Given the description of an element on the screen output the (x, y) to click on. 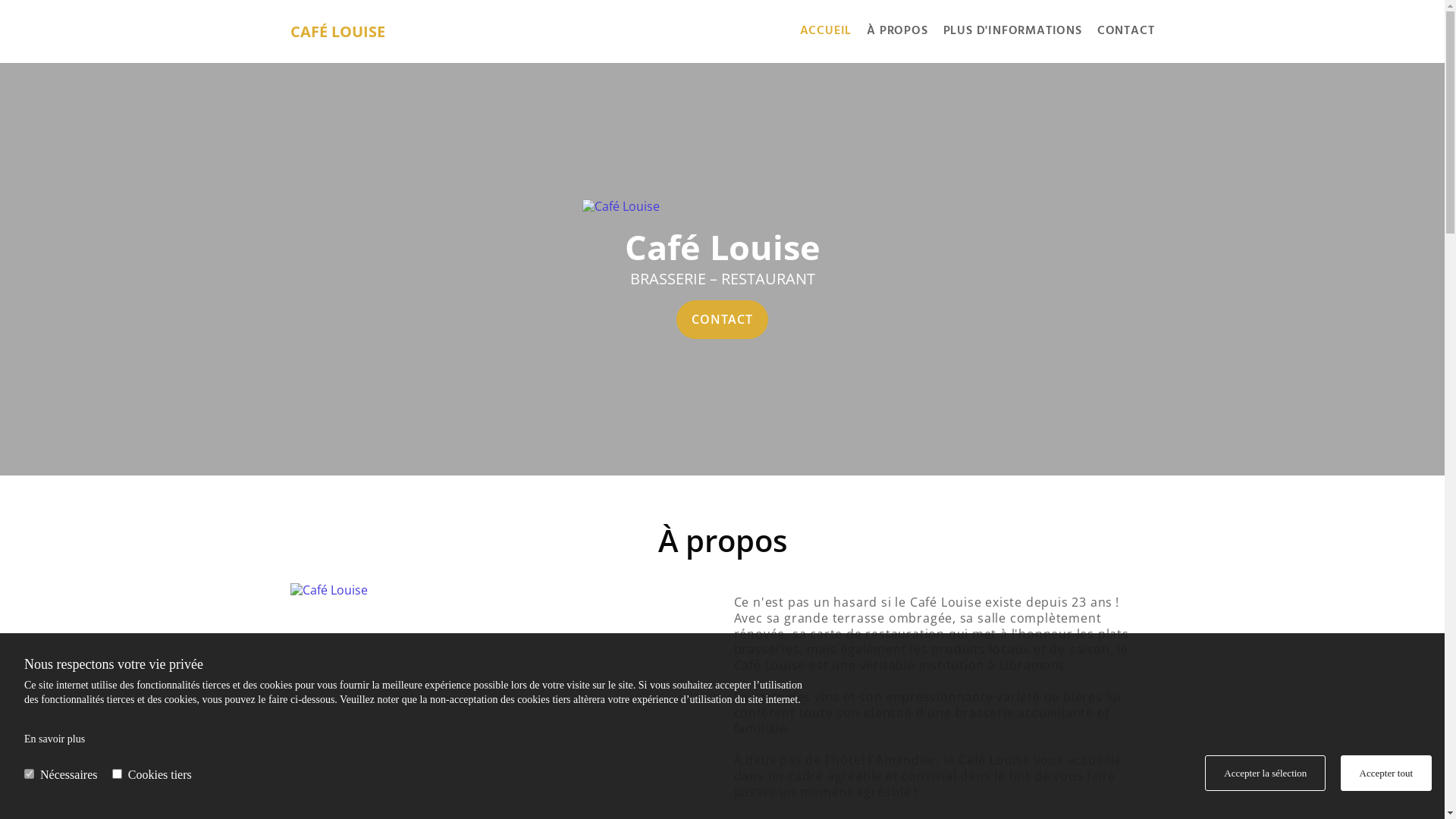
PLUS D'INFORMATIONS Element type: text (1005, 31)
ACCUEIL Element type: text (818, 31)
CONTACT Element type: text (722, 319)
Accepter tout Element type: text (1385, 772)
En savoir plus Element type: text (54, 738)
CONTACT Element type: text (1118, 31)
